Given the description of an element on the screen output the (x, y) to click on. 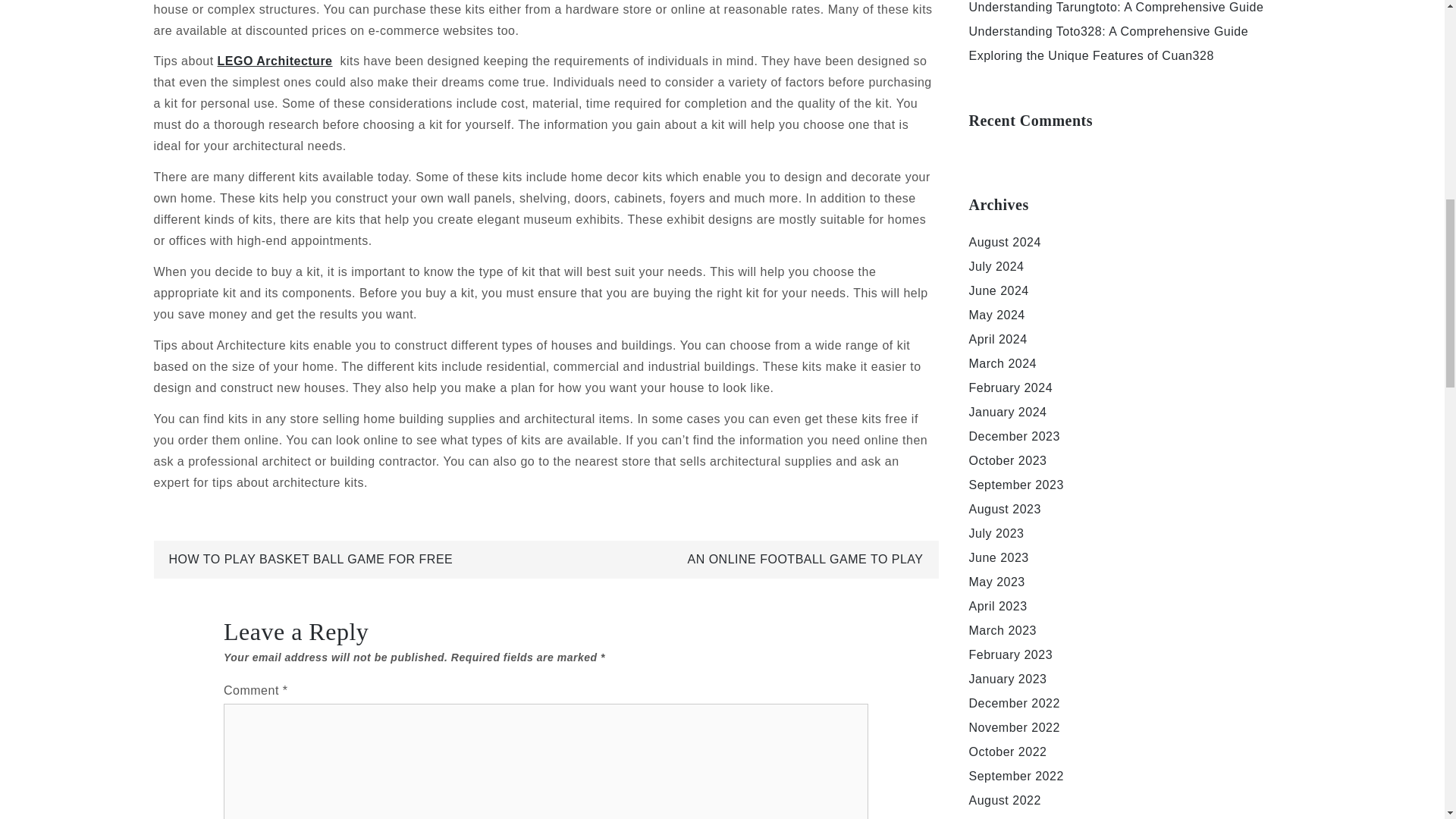
August 2024 (1005, 241)
April 2024 (998, 338)
February 2023 (1010, 654)
March 2023 (1002, 630)
December 2023 (1014, 436)
September 2023 (1016, 484)
July 2024 (997, 266)
August 2023 (1005, 508)
January 2024 (1007, 411)
Understanding Tarungtoto: A Comprehensive Guide (1116, 6)
